Given the description of an element on the screen output the (x, y) to click on. 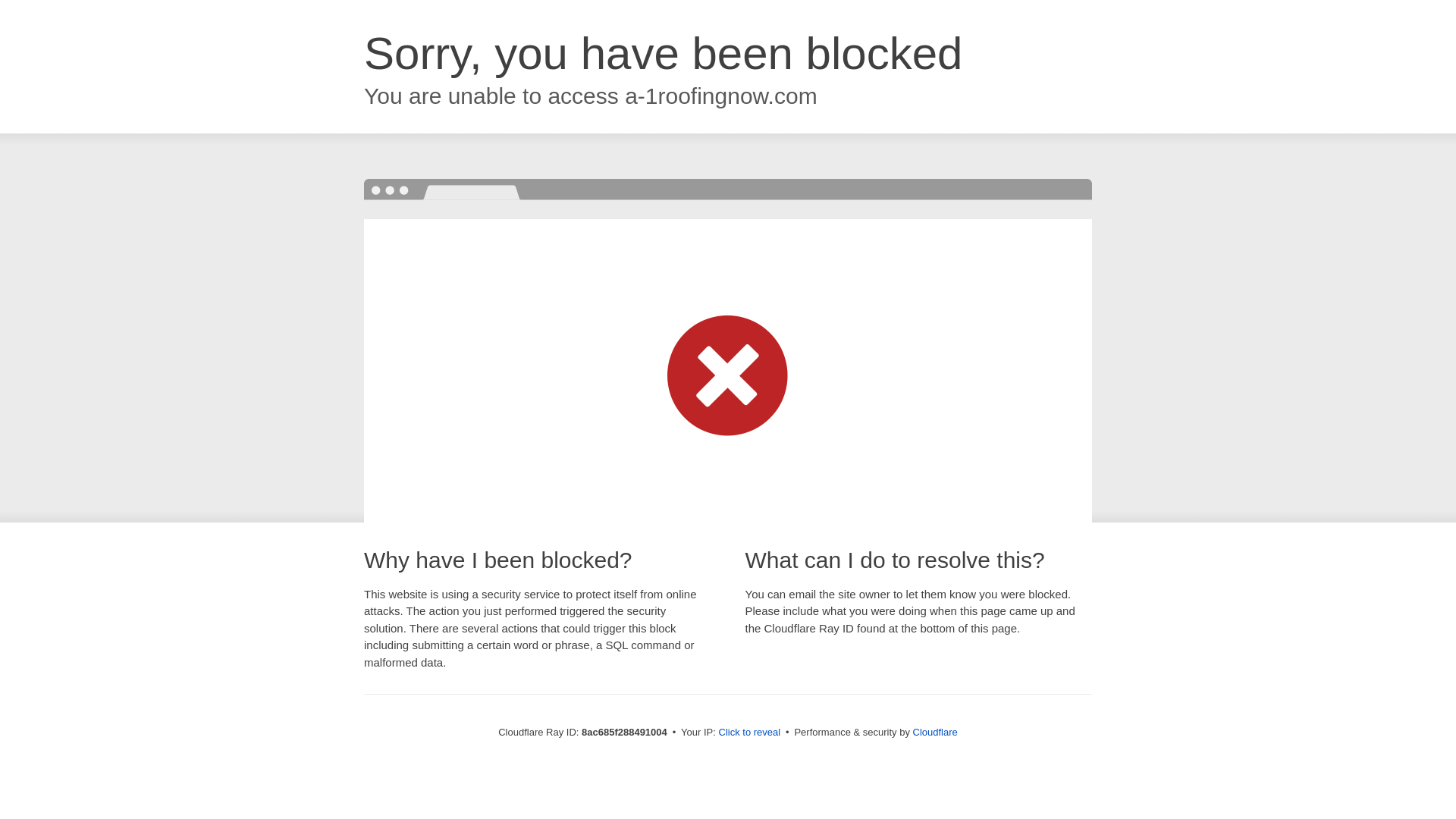
Click to reveal (749, 732)
Cloudflare (935, 731)
